Given the description of an element on the screen output the (x, y) to click on. 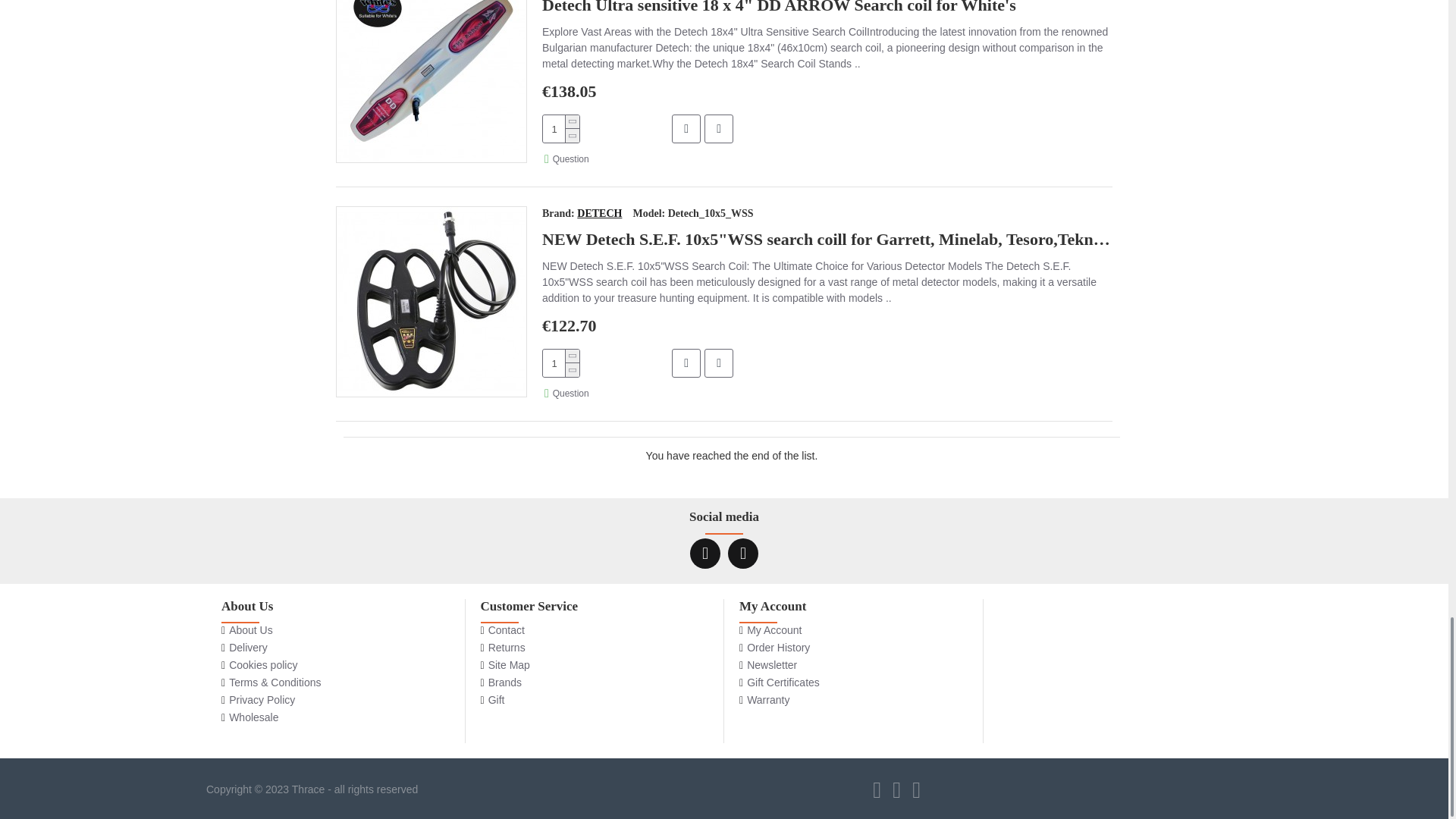
1 (561, 362)
1 (561, 128)
